Given the description of an element on the screen output the (x, y) to click on. 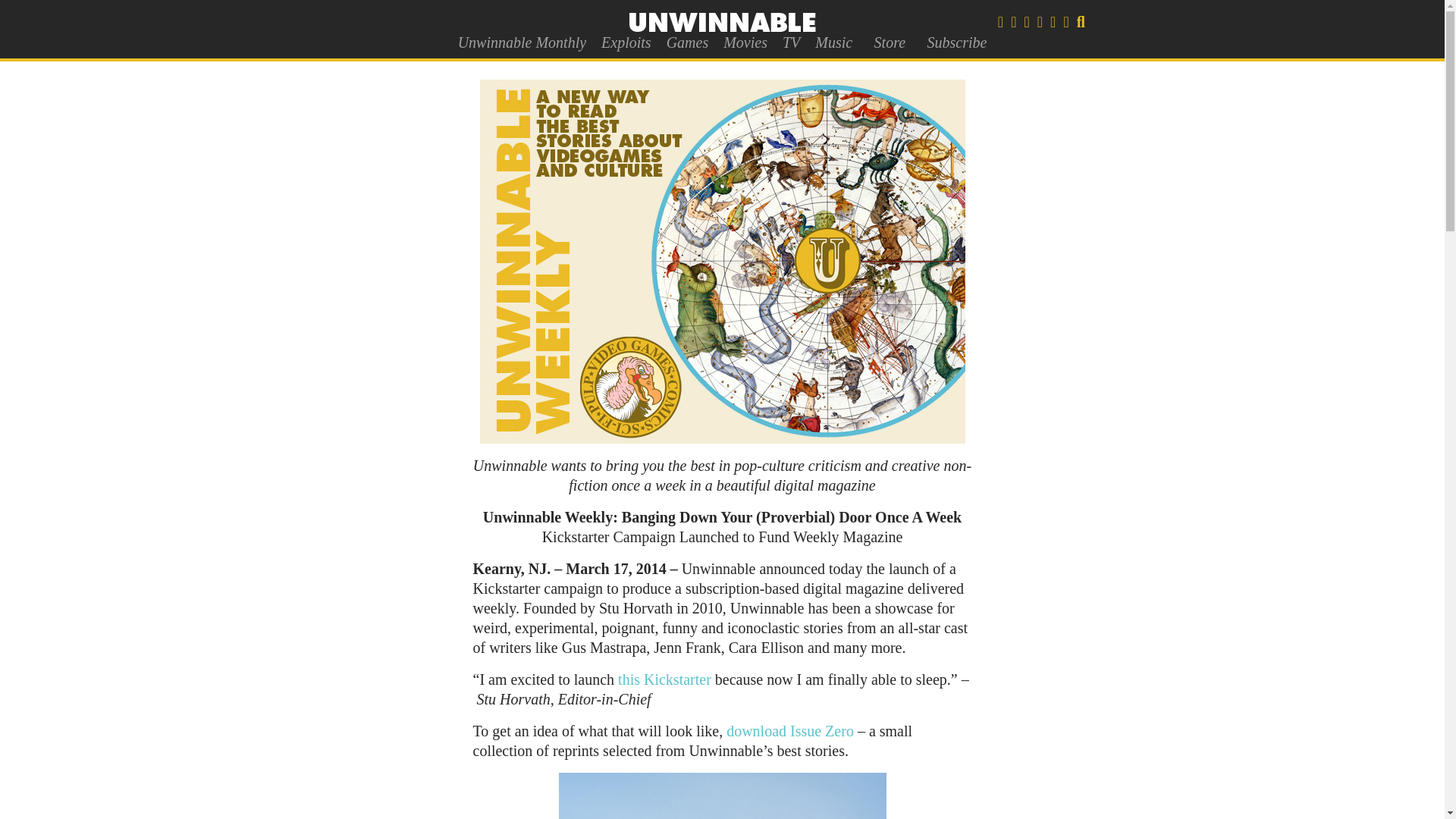
download Issue Zero (789, 730)
this Kickstarter (664, 678)
Exploits (626, 42)
Subscribe (956, 42)
Store (889, 42)
Unwinnable Monthly (521, 42)
Games (687, 42)
TV (791, 42)
Music (834, 42)
Movies (745, 42)
